Given the description of an element on the screen output the (x, y) to click on. 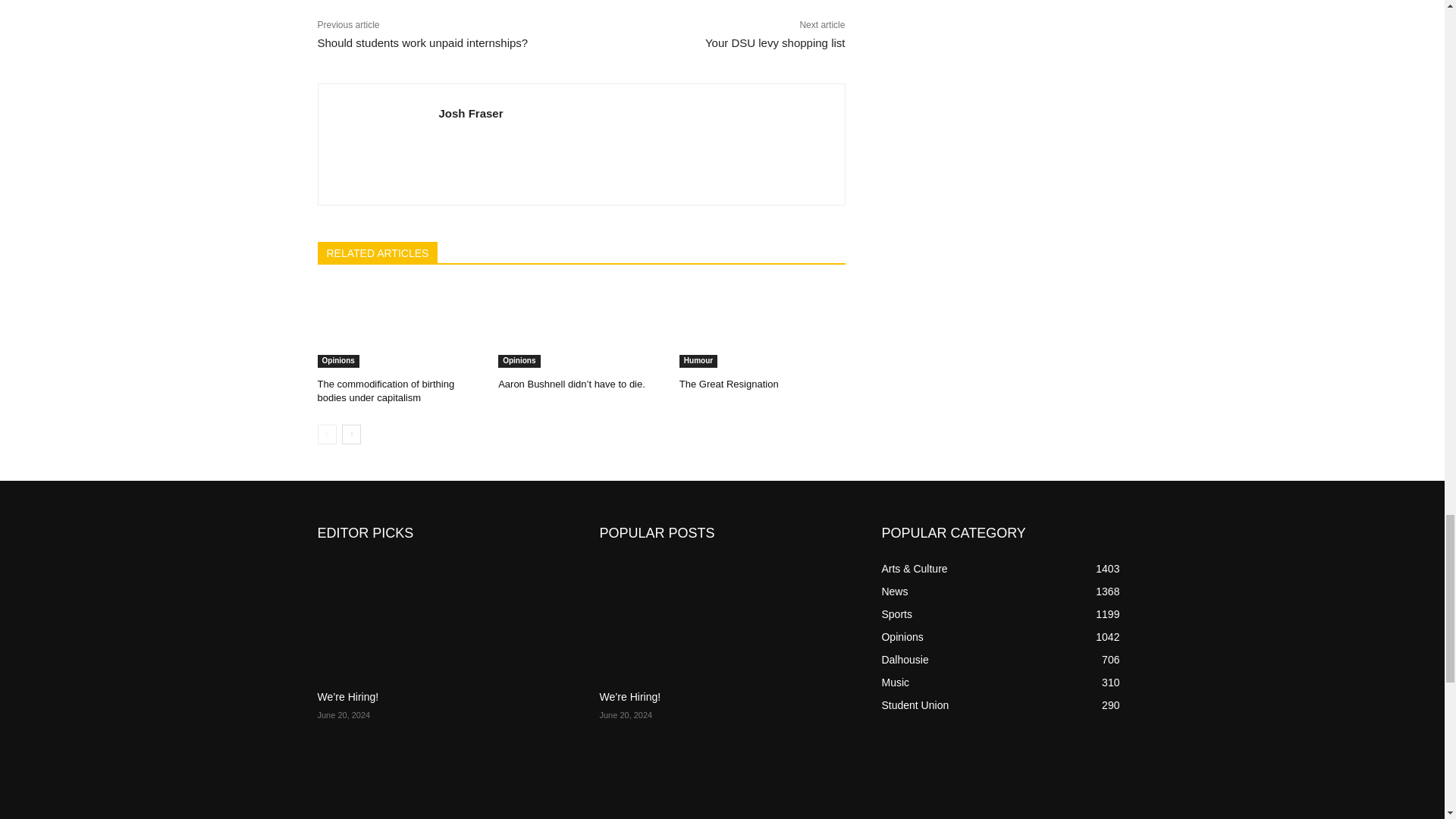
Josh Fraser (377, 144)
The commodification of birthing bodies under capitalism (400, 325)
The commodification of birthing bodies under capitalism (385, 390)
